Given the description of an element on the screen output the (x, y) to click on. 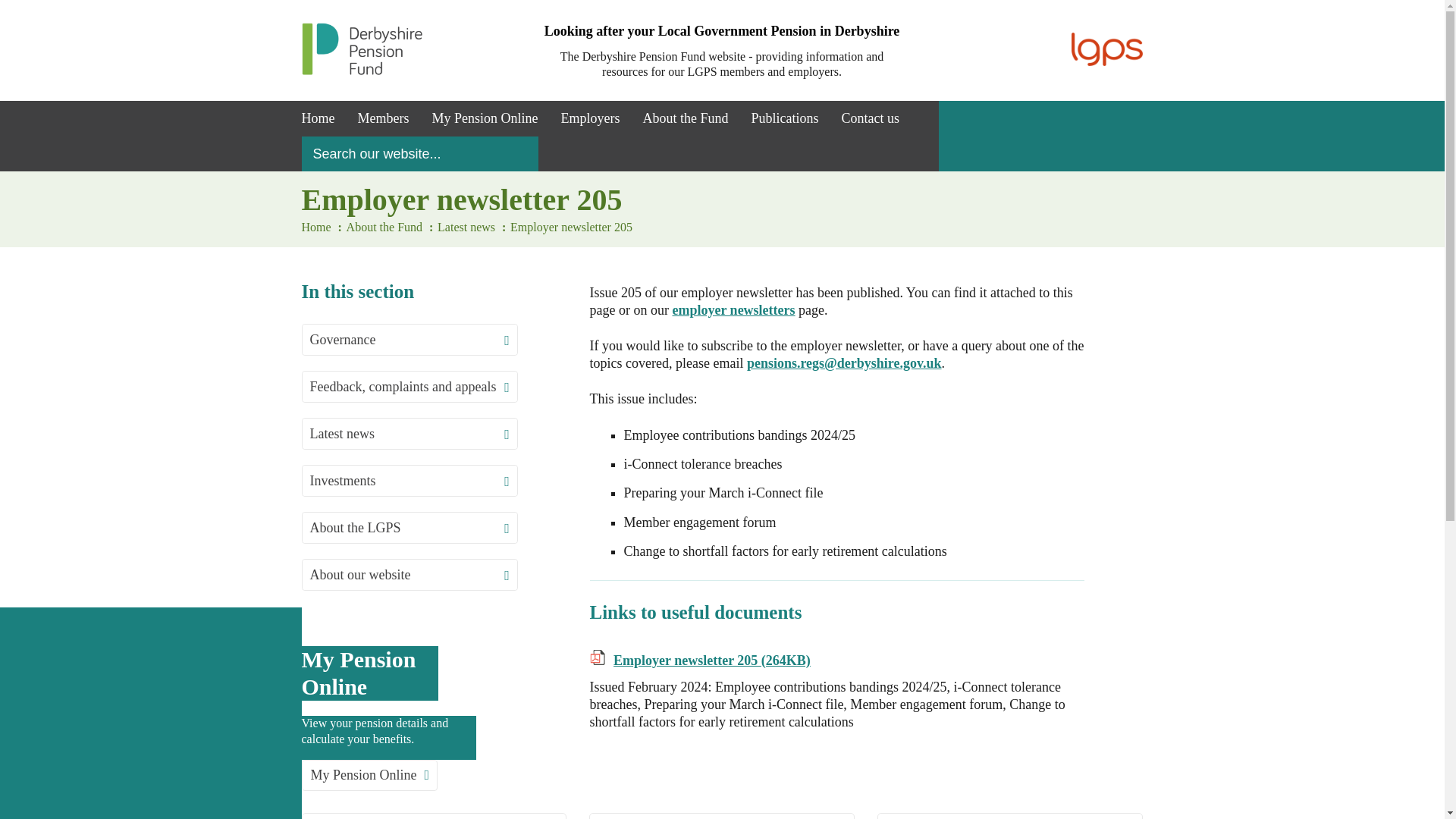
Search (519, 153)
Go to homepage (317, 118)
Go to Members (383, 118)
Derbyshire Pension Fund (362, 70)
LGPS member website logo (1106, 49)
Members (383, 118)
Employers (589, 118)
About the Fund (684, 118)
Go to My Pension Online (484, 118)
Go to Employers (589, 118)
